Given the description of an element on the screen output the (x, y) to click on. 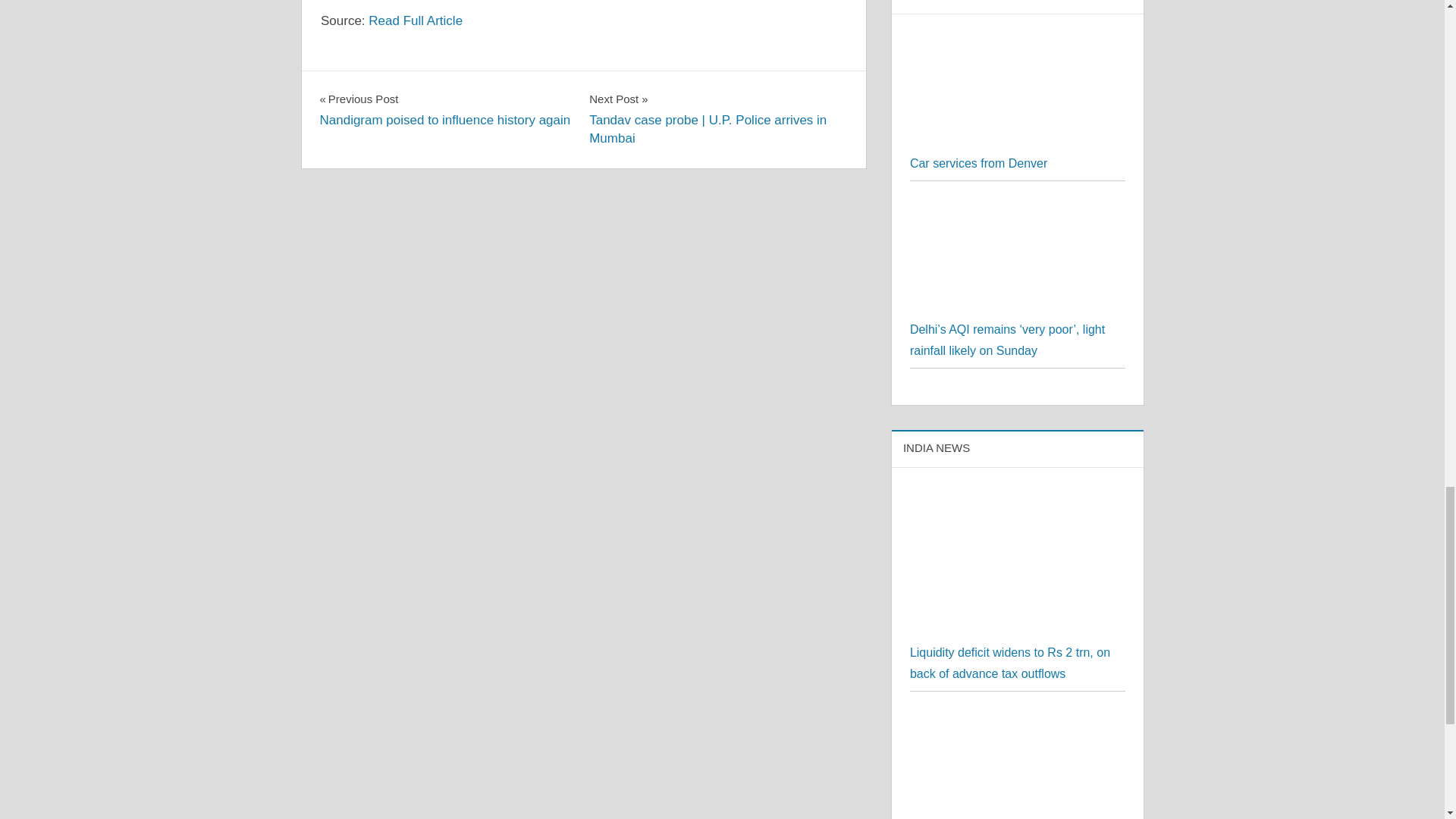
Bitcoin Beats Equities, Gold In 2023! (1017, 719)
Car services from Denver (1017, 141)
Bitcoin Beats Equities, Gold In 2023! (1017, 764)
Car services from Denver (978, 163)
INDIA (343, 85)
Read Full Article (415, 20)
